Given the description of an element on the screen output the (x, y) to click on. 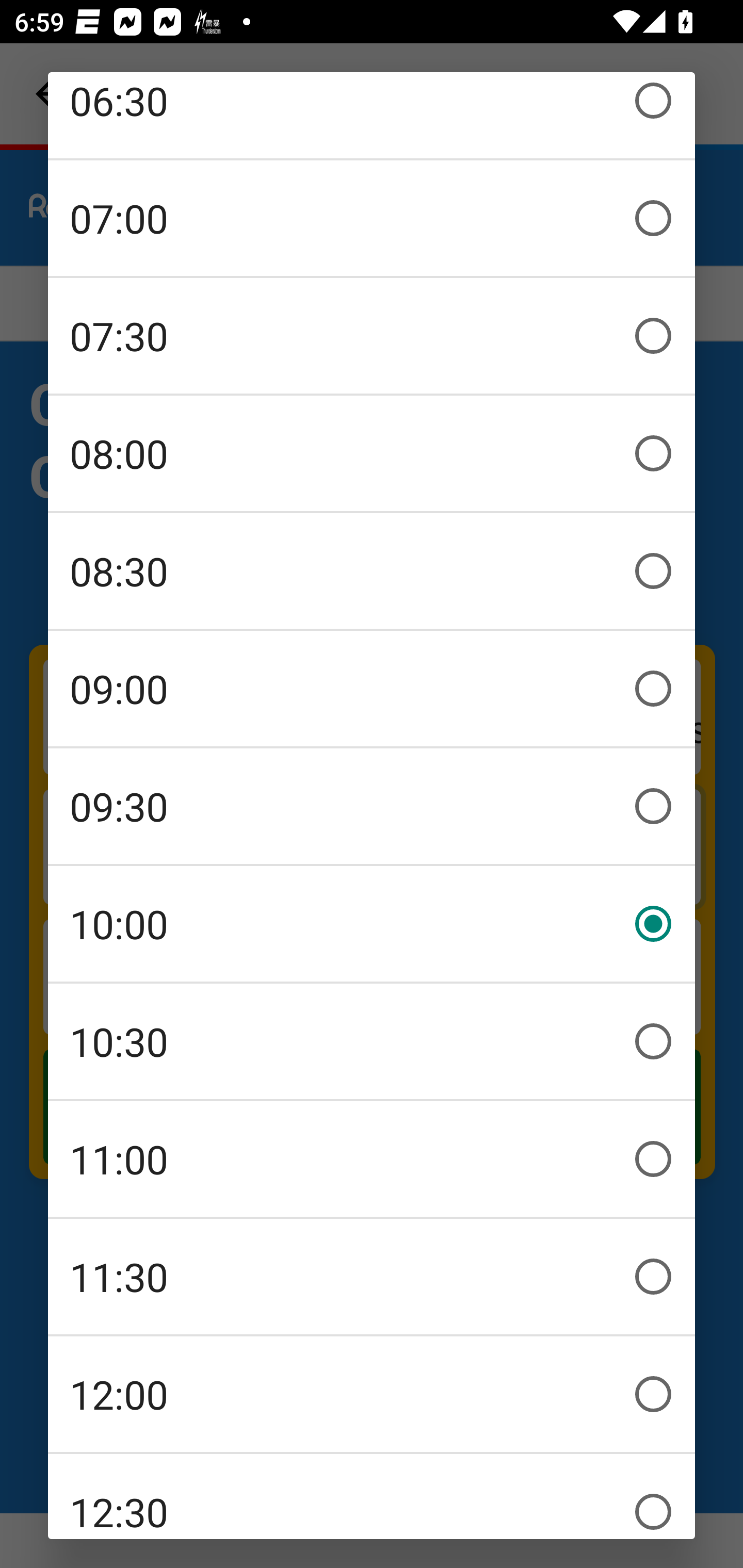
06:30 (371, 115)
07:00 (371, 217)
07:30 (371, 335)
08:00 (371, 453)
08:30 (371, 570)
09:00 (371, 688)
09:30 (371, 805)
10:00 (371, 923)
10:30 (371, 1041)
11:00 (371, 1158)
11:30 (371, 1276)
12:00 (371, 1393)
12:30 (371, 1496)
